Given the description of an element on the screen output the (x, y) to click on. 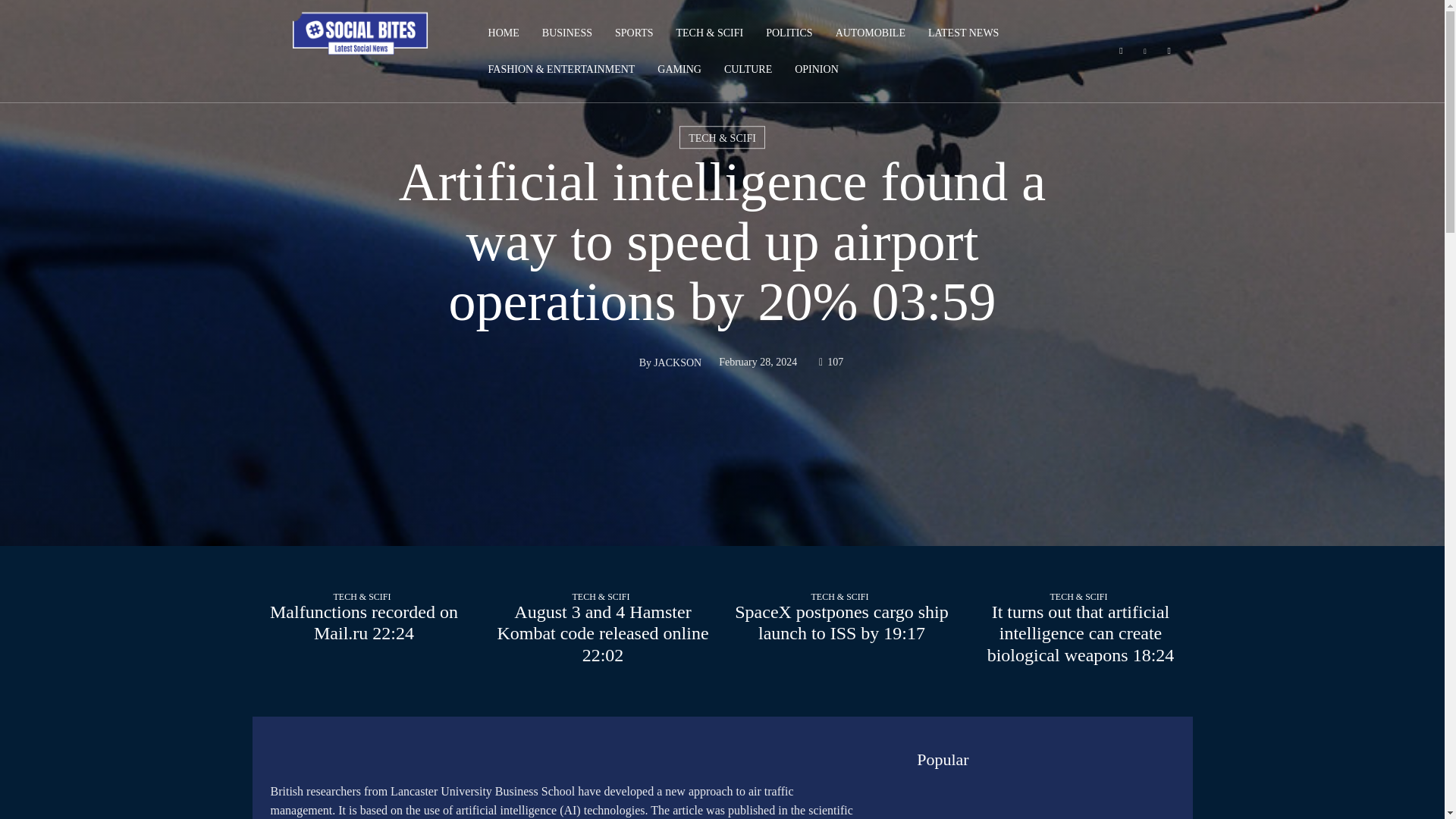
Malfunctions recorded on Mail.ru 22:24 (363, 622)
Facebook (1121, 51)
GAMING (678, 69)
Jackson (620, 363)
BUSINESS (566, 33)
POLITICS (788, 33)
Tumblr (1168, 51)
SpaceX postpones cargo ship launch to ISS by 19:17 (841, 526)
OPINION (816, 69)
AUTOMOBILE (869, 33)
CULTURE (748, 69)
August 3 and 4 Hamster Kombat code released online 22:02 (603, 526)
SPORTS (634, 33)
August 3 and 4 Hamster Kombat code released online 22:02 (601, 633)
HOME (503, 33)
